Given the description of an element on the screen output the (x, y) to click on. 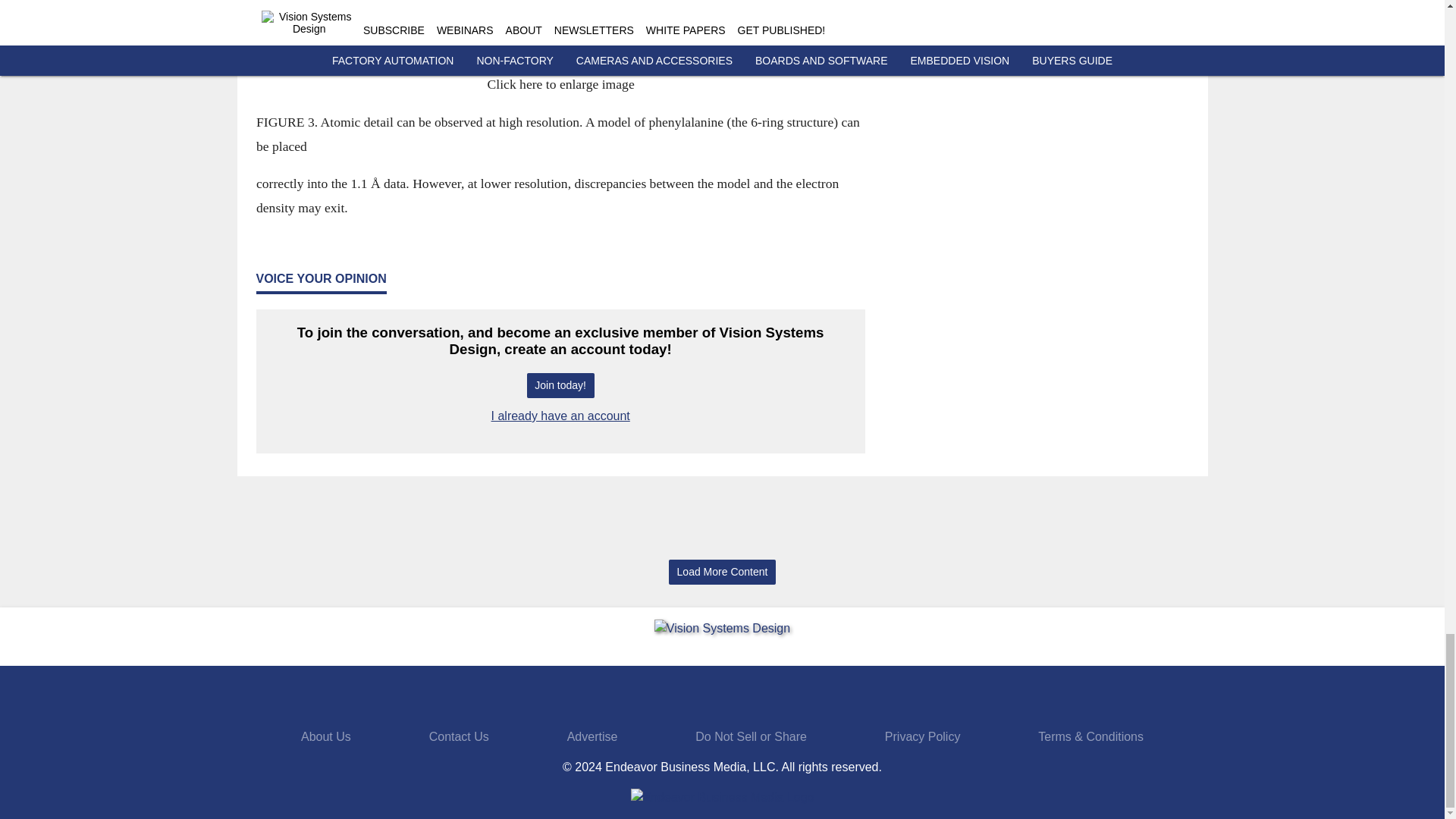
Join today! (560, 385)
I already have an account (561, 415)
Th Vsd51027 25 (560, 53)
